Given the description of an element on the screen output the (x, y) to click on. 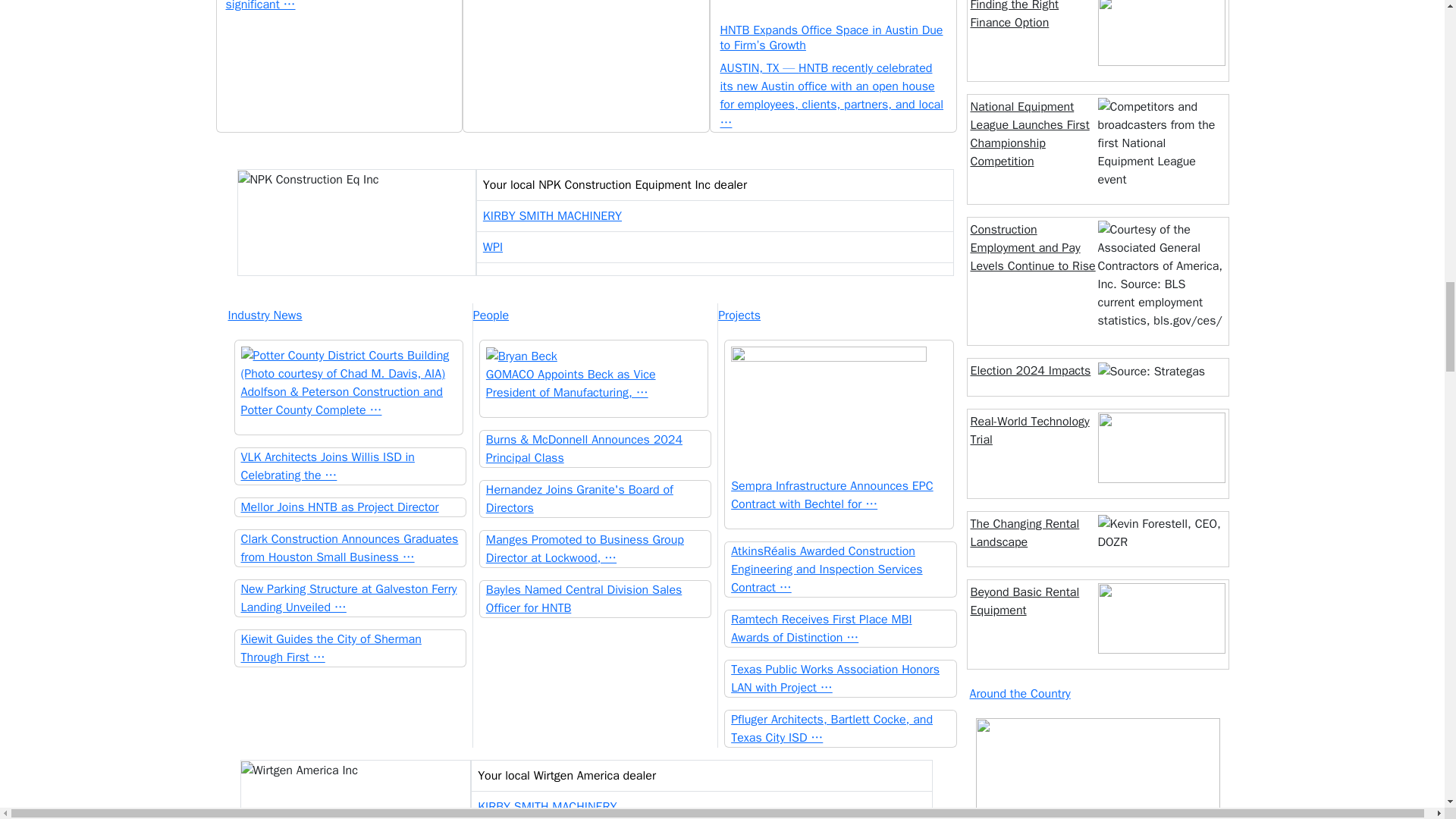
WPI (492, 246)
Industry News (349, 315)
KIRBY SMITH MACHINERY (552, 215)
